Given the description of an element on the screen output the (x, y) to click on. 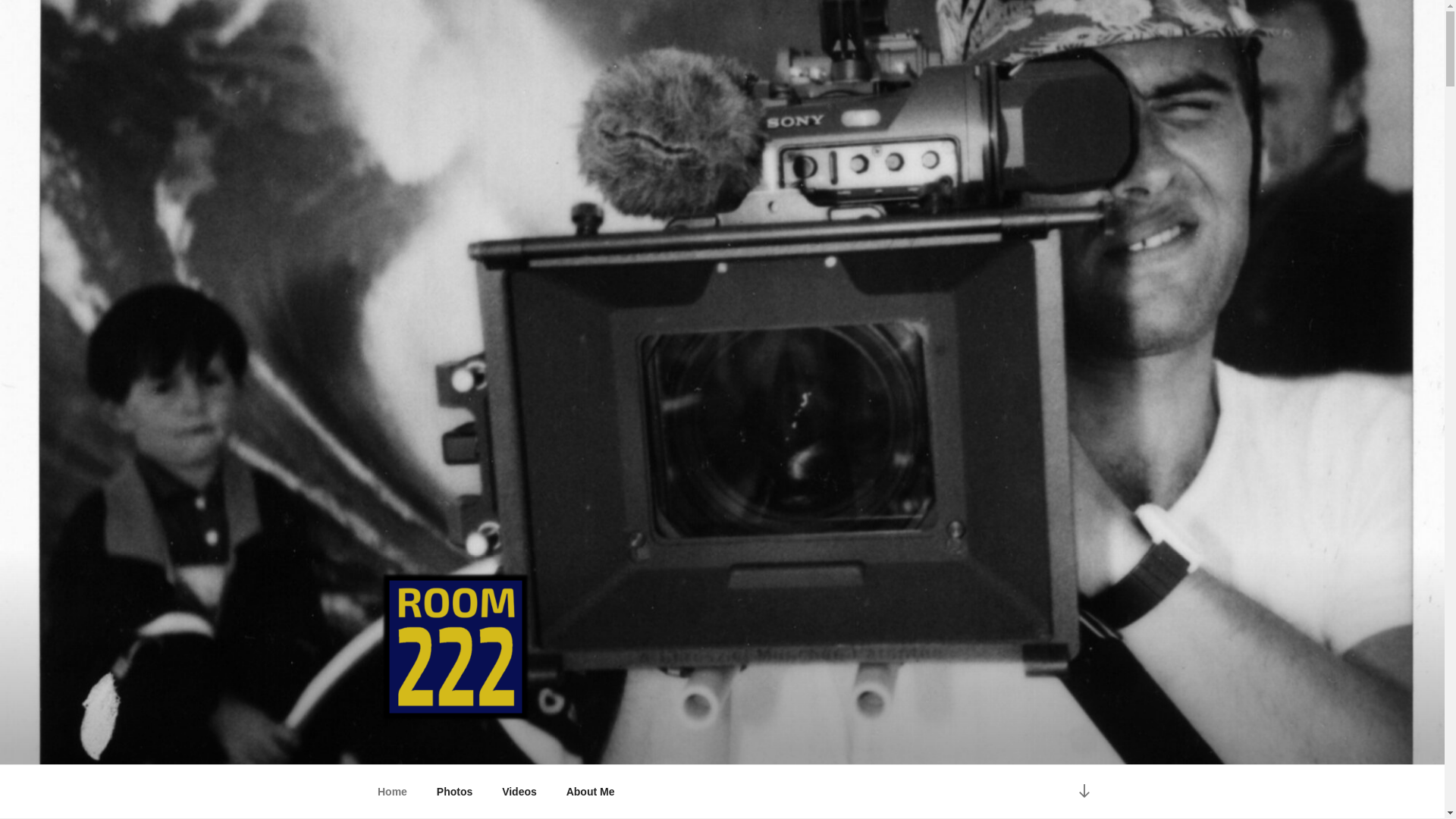
Videos (519, 791)
Scroll down to content (1082, 791)
Photos (453, 791)
Scroll down to content (1082, 791)
Room222 (441, 744)
Home (392, 791)
About Me (590, 791)
